Given the description of an element on the screen output the (x, y) to click on. 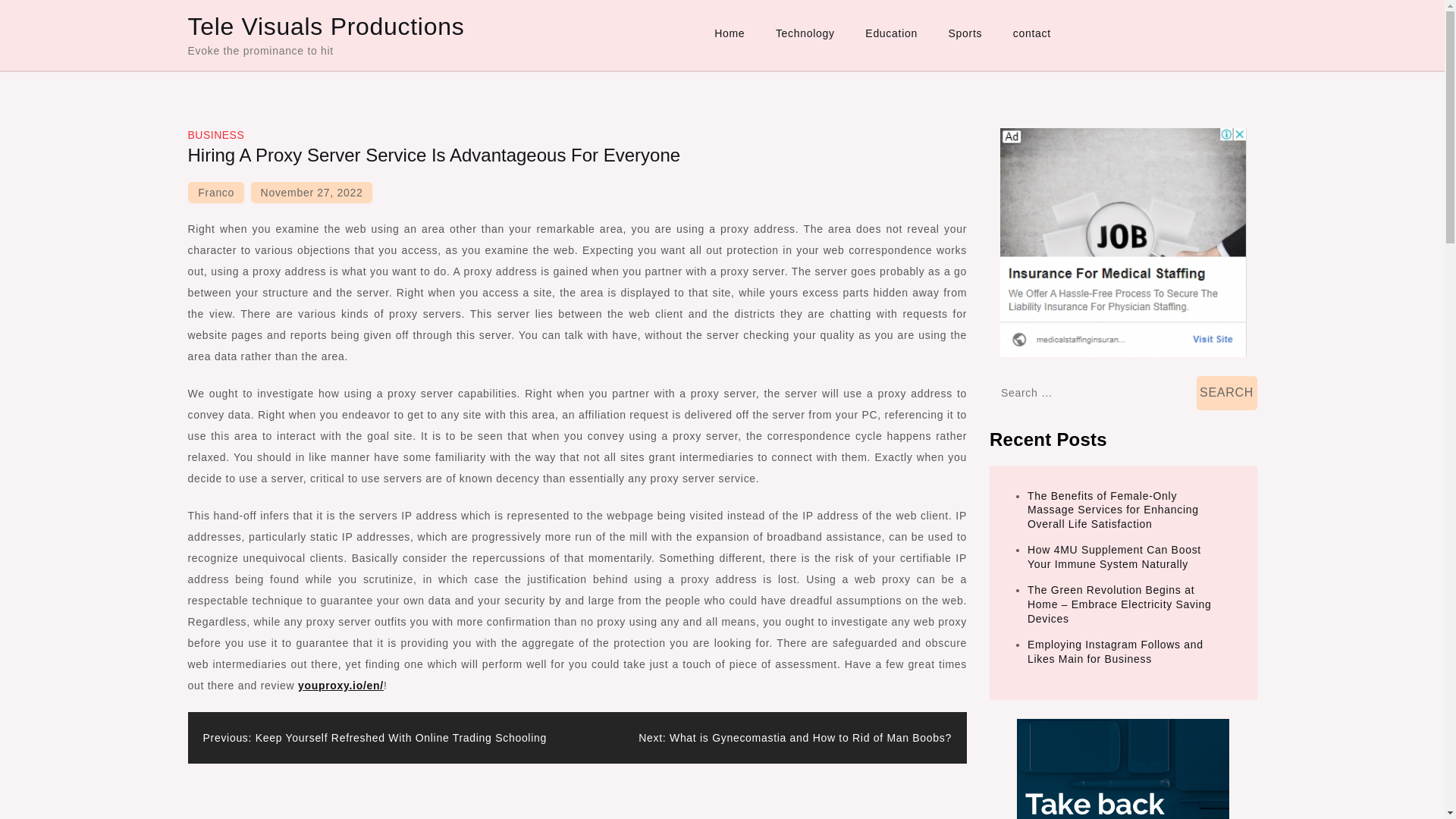
Tele Visuals Productions (325, 26)
How 4MU Supplement Can Boost Your Immune System Naturally (1114, 556)
Technology (804, 33)
Search (1226, 392)
Sports (964, 33)
contact (1031, 33)
Employing Instagram Follows and Likes Main for Business (1115, 651)
Search (1226, 392)
Education (891, 33)
November 27, 2022 (311, 192)
